Given the description of an element on the screen output the (x, y) to click on. 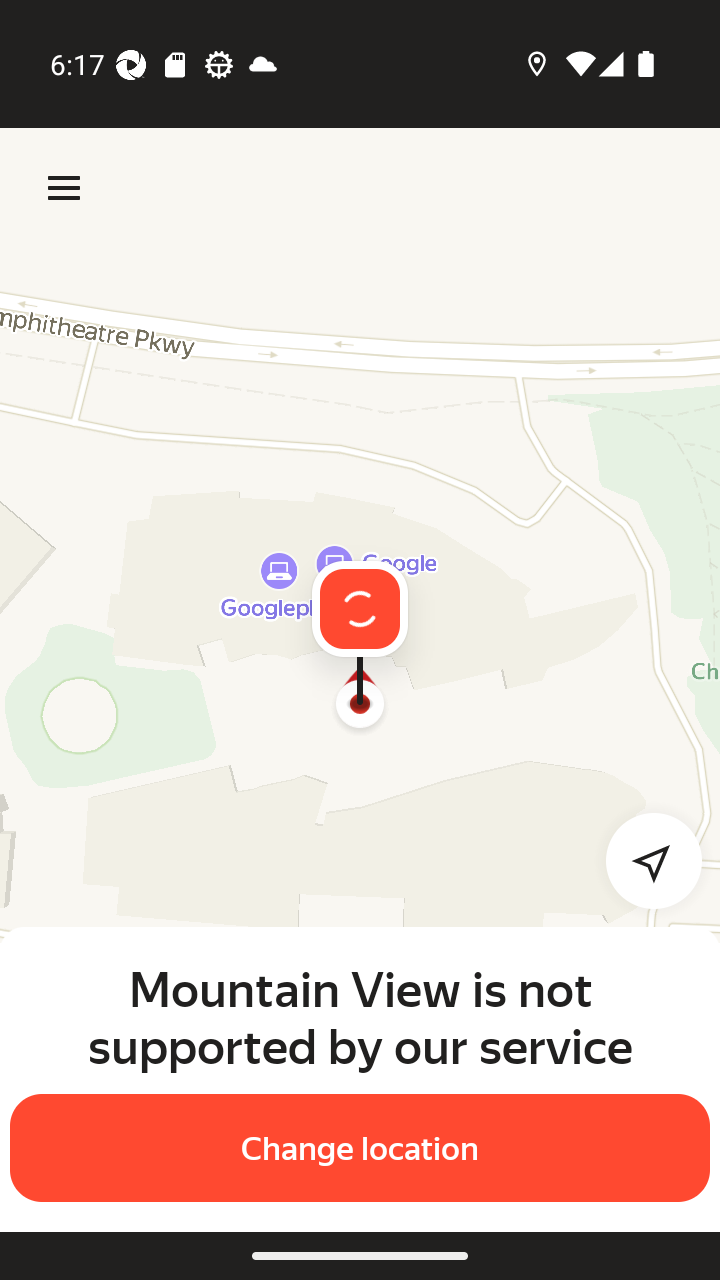
Menu Menu Menu (64, 188)
Detect my location (641, 860)
Mountain View is not supported by our service (360, 1017)
Change location (359, 1147)
